Given the description of an element on the screen output the (x, y) to click on. 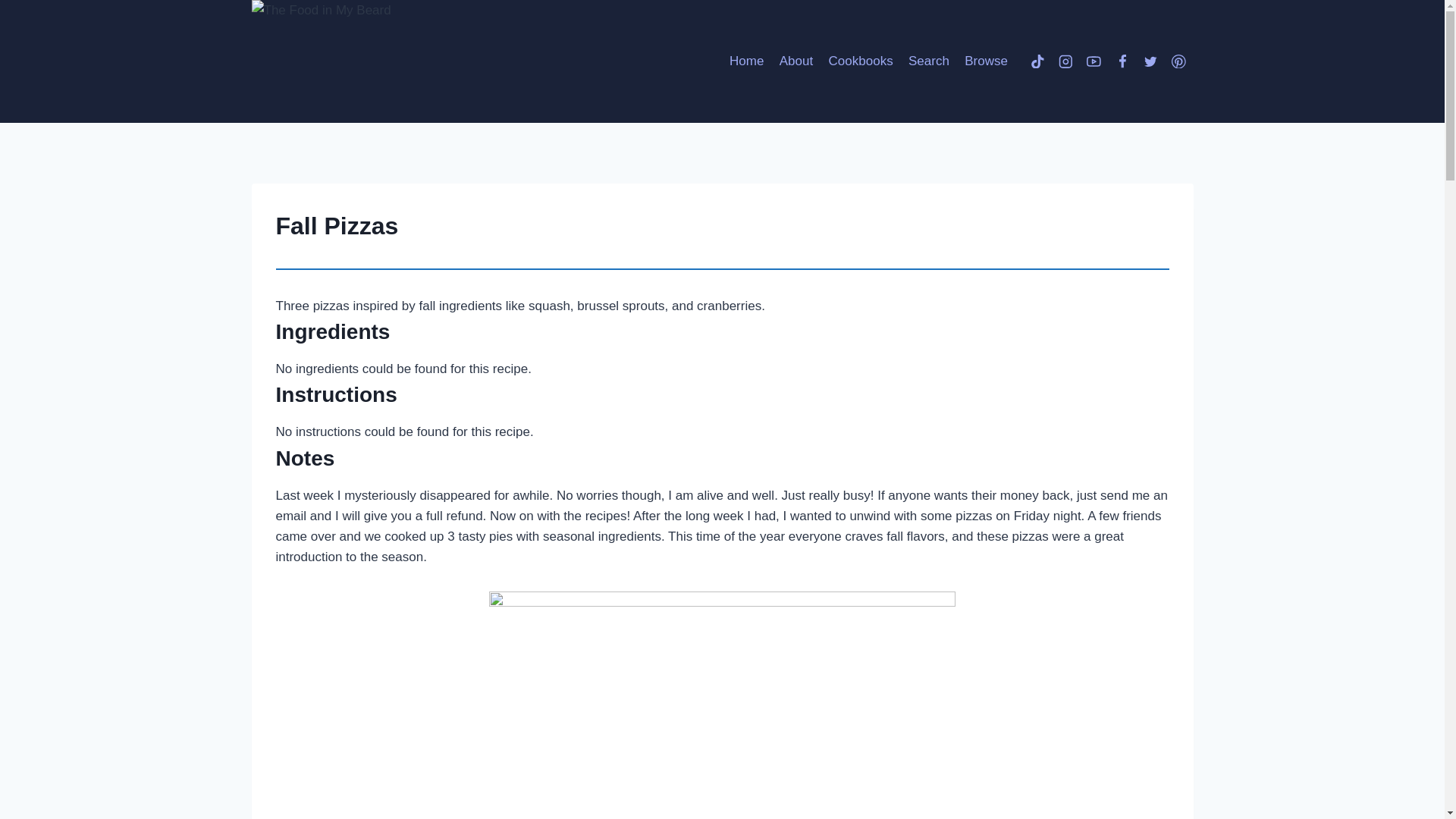
Search (928, 61)
Browse (985, 61)
Home (746, 61)
Cookbooks (860, 61)
About (796, 61)
